Given the description of an element on the screen output the (x, y) to click on. 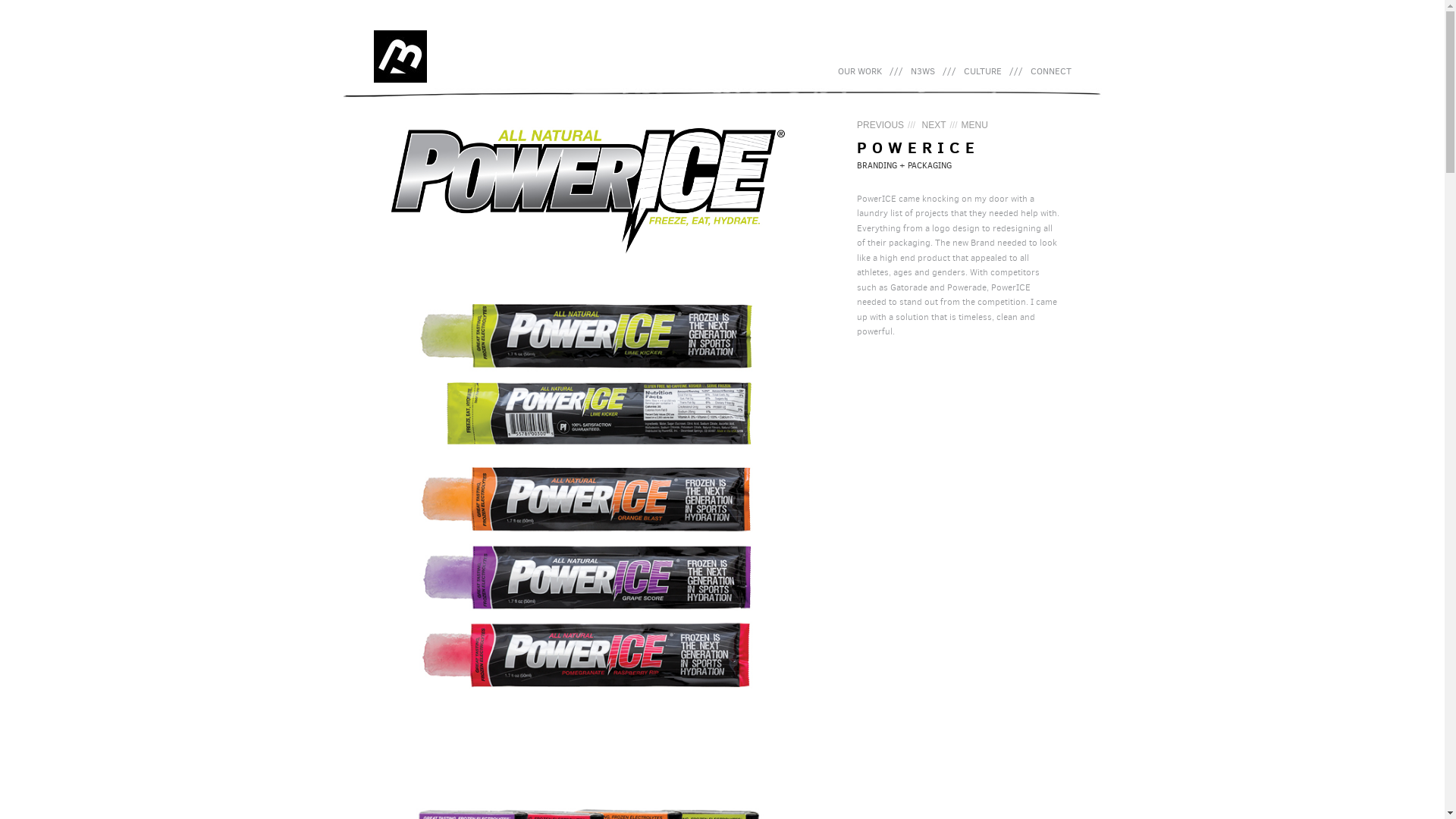
PREVIOUS Element type: text (879, 124)
CONNECT Element type: text (1050, 71)
/// Element type: text (1015, 71)
/// NEXT Element type: text (924, 124)
/// Element type: text (949, 71)
CULTURE Element type: text (982, 71)
N3WS Element type: text (922, 71)
Skip to primary content Element type: text (892, 71)
Skip to secondary content Element type: text (898, 71)
/// Element type: text (895, 71)
MENU Element type: text (973, 124)
OUR WORK Element type: text (859, 71)
